Given the description of an element on the screen output the (x, y) to click on. 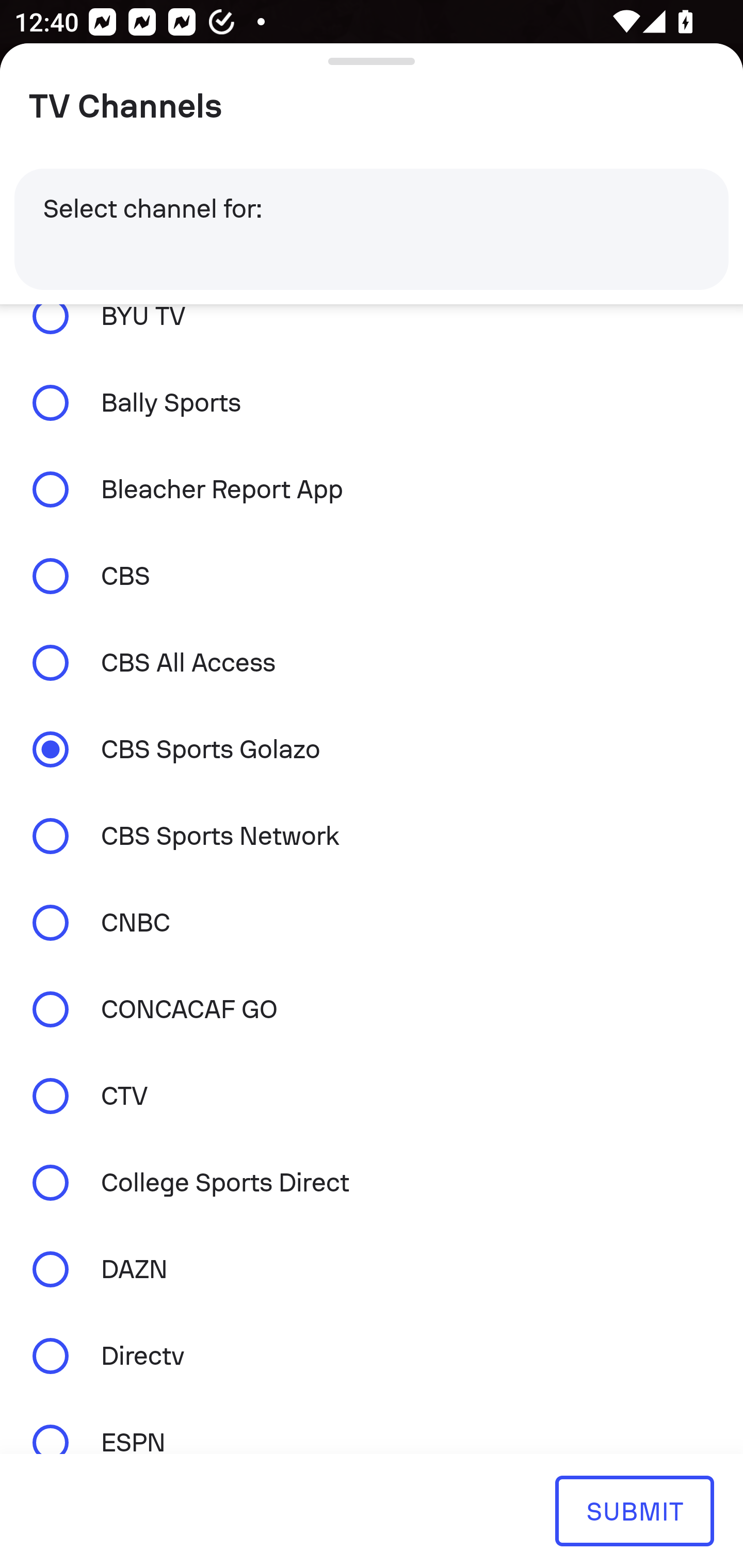
BYU TV (371, 331)
Bally Sports (371, 402)
Bleacher Report App (371, 489)
CBS (371, 576)
CBS All Access (371, 662)
CBS Sports Golazo (371, 749)
CBS Sports Network (371, 836)
CNBC (371, 922)
CONCACAF GO (371, 1008)
CTV (371, 1095)
College Sports Direct (371, 1182)
DAZN (371, 1269)
Directv (371, 1355)
ESPN (371, 1425)
SUBMIT (634, 1510)
